Given the description of an element on the screen output the (x, y) to click on. 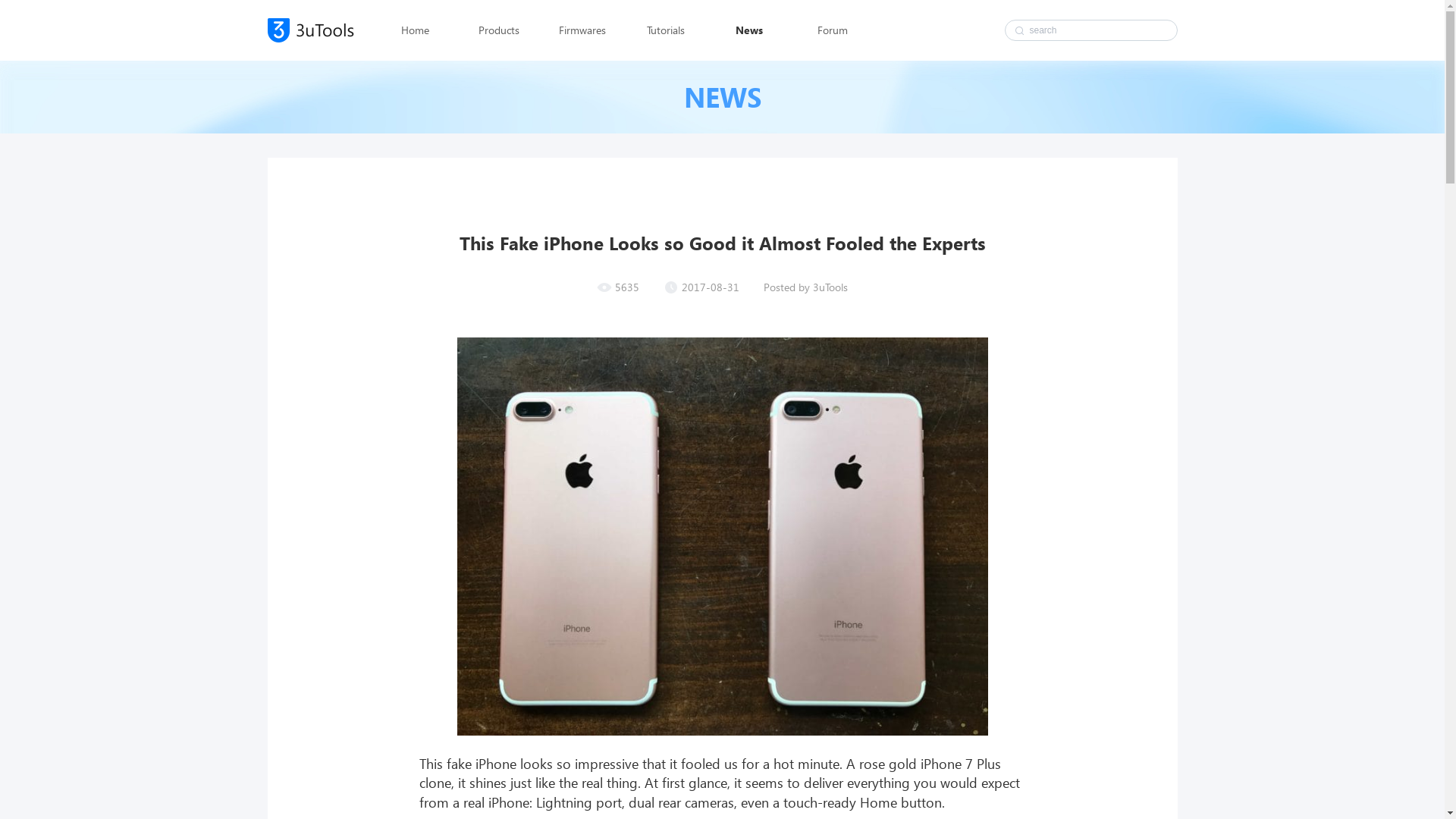
Products Element type: text (497, 30)
News Element type: text (748, 30)
Home Element type: text (414, 30)
Forum Element type: text (831, 30)
Tutorials Element type: text (664, 30)
This Fake iPhone Looks so Good it Almost Fooled the Experts Element type: hover (721, 536)
Firmwares Element type: text (581, 30)
